Given the description of an element on the screen output the (x, y) to click on. 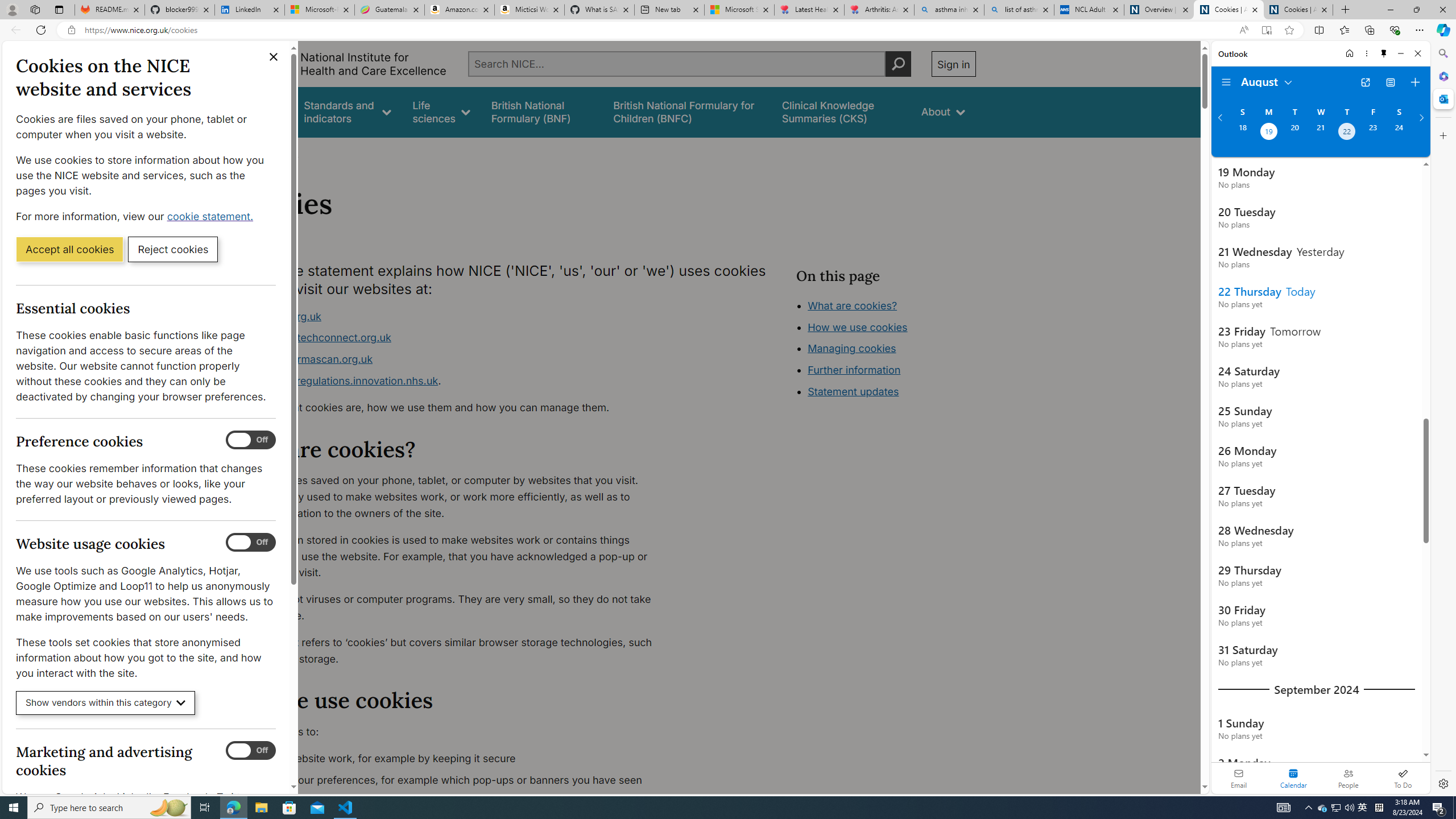
www.ukpharmascan.org.uk (452, 359)
Open in new tab (1365, 82)
Arthritis: Ask Health Professionals (879, 9)
How we use cookies (857, 327)
Life sciences (440, 111)
Create event (1414, 82)
Class: in-page-nav__list (884, 349)
To Do (1402, 777)
